Given the description of an element on the screen output the (x, y) to click on. 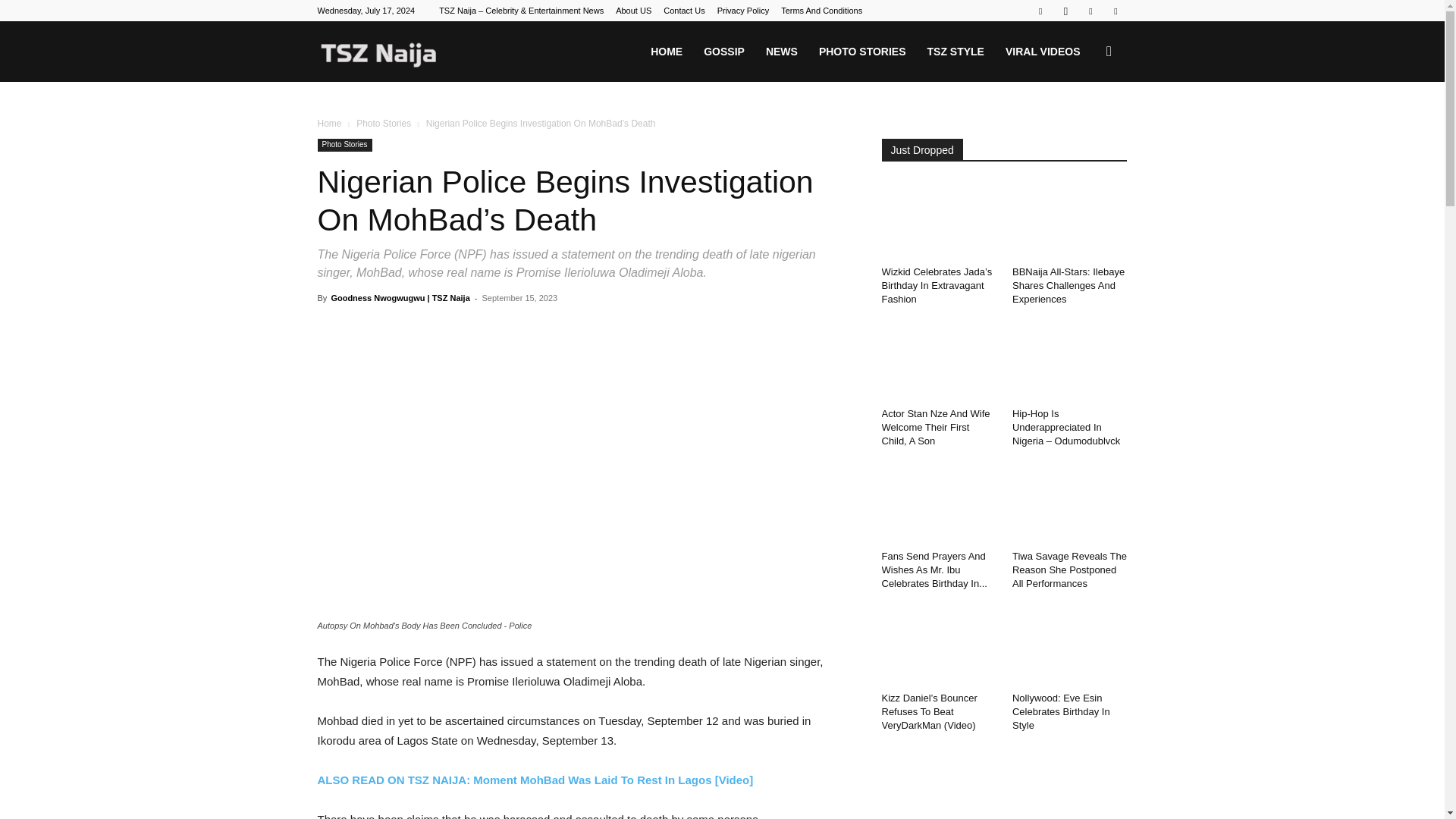
VIRAL VIDEOS (1042, 51)
Photo Stories (383, 122)
Photo Stories (344, 144)
Contact Us (683, 10)
GOSSIP (724, 51)
Terms And Conditions (820, 10)
About US (632, 10)
Privacy Policy (742, 10)
PHOTO STORIES (862, 51)
TSZ STYLE (954, 51)
View all posts in Photo Stories (383, 122)
Home (328, 122)
Search (1085, 124)
Linkedin (1090, 10)
TSZ Naija (378, 51)
